Given the description of an element on the screen output the (x, y) to click on. 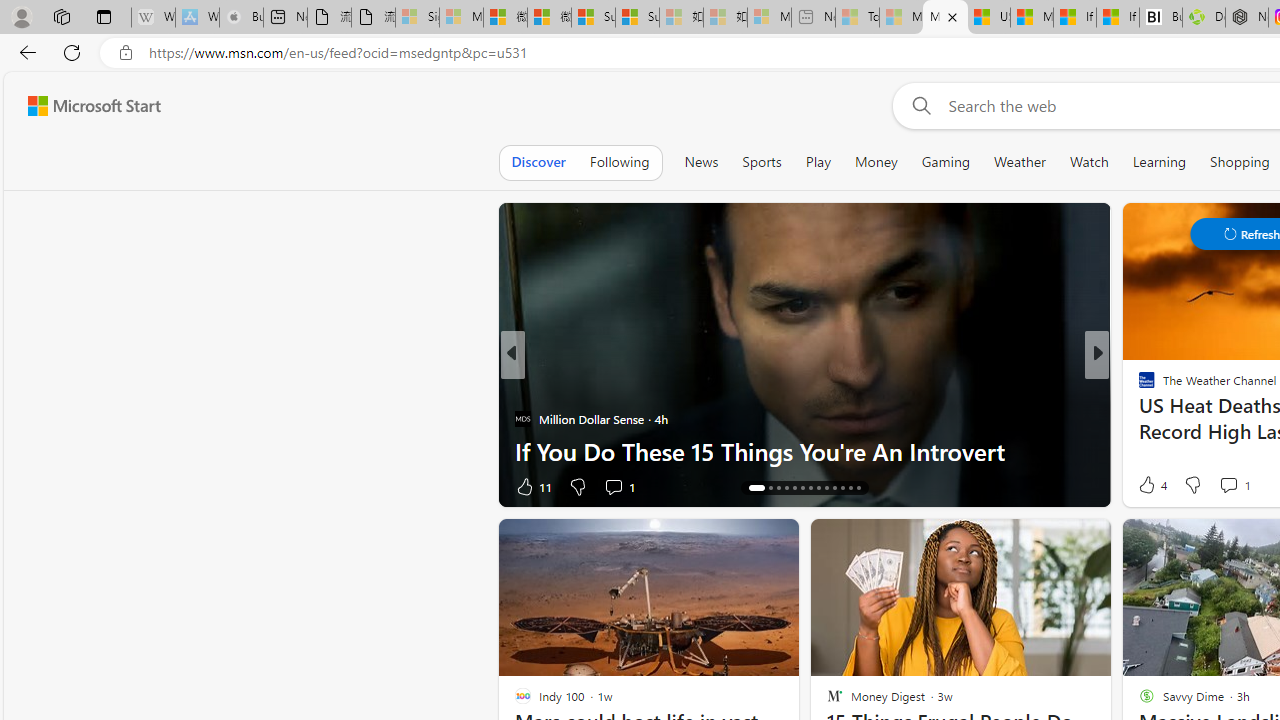
AutomationID: tab-19 (801, 487)
GOBankingRates (1138, 386)
Groovy Era (1138, 418)
View comments 13 Comment (1234, 485)
View comments 2 Comment (1229, 485)
AutomationID: tab-17 (786, 487)
4 Like (1151, 484)
AutomationID: tab-15 (769, 487)
Bolde Media (1138, 386)
